Given the description of an element on the screen output the (x, y) to click on. 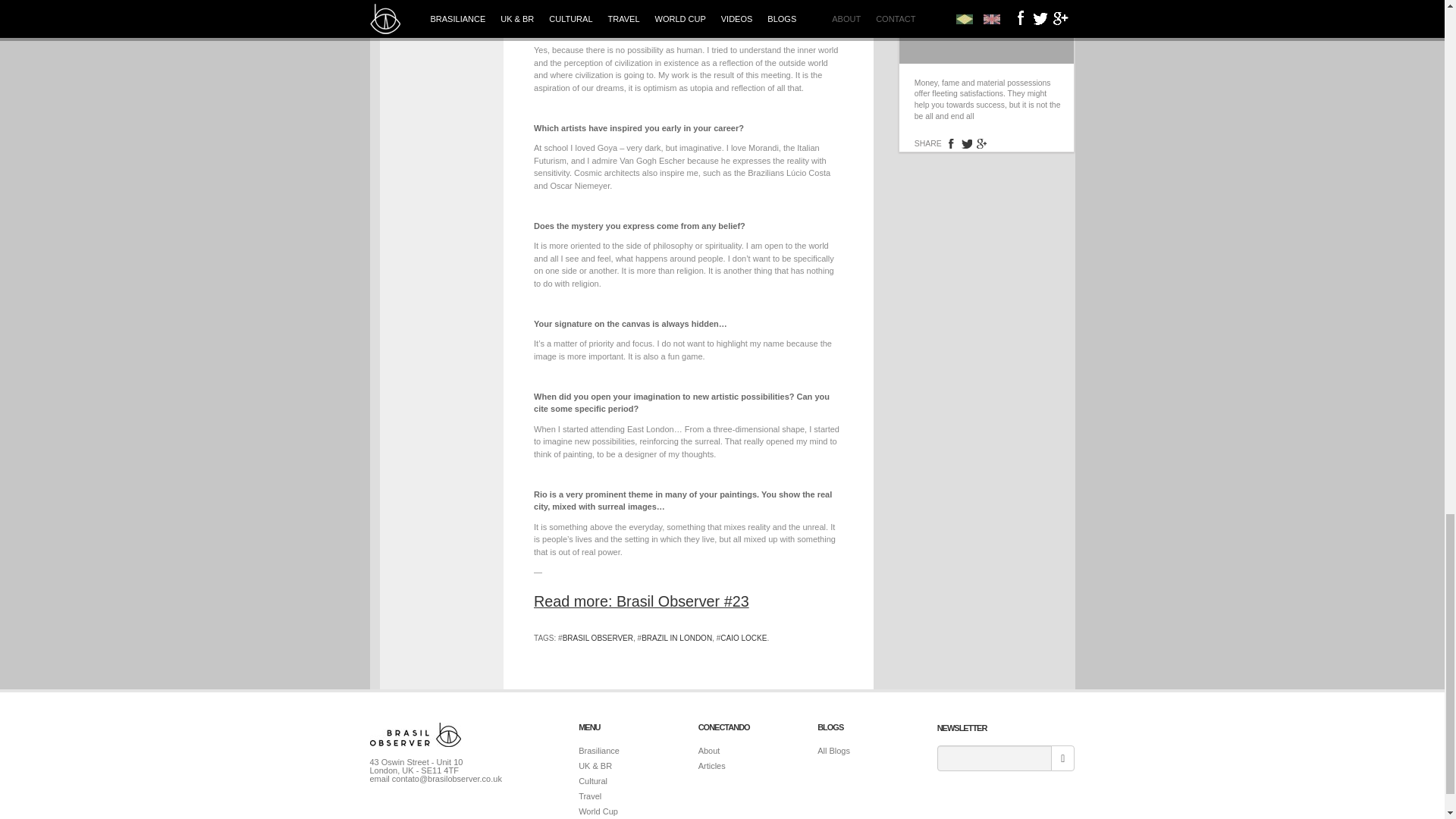
About (709, 750)
BRAZIL IN LONDON (676, 637)
CAIO LOCKE (743, 637)
BRASIL OBSERVER (597, 637)
Brasiliance (599, 750)
Cultural (592, 780)
World Cup (597, 810)
Travel (589, 795)
